Given the description of an element on the screen output the (x, y) to click on. 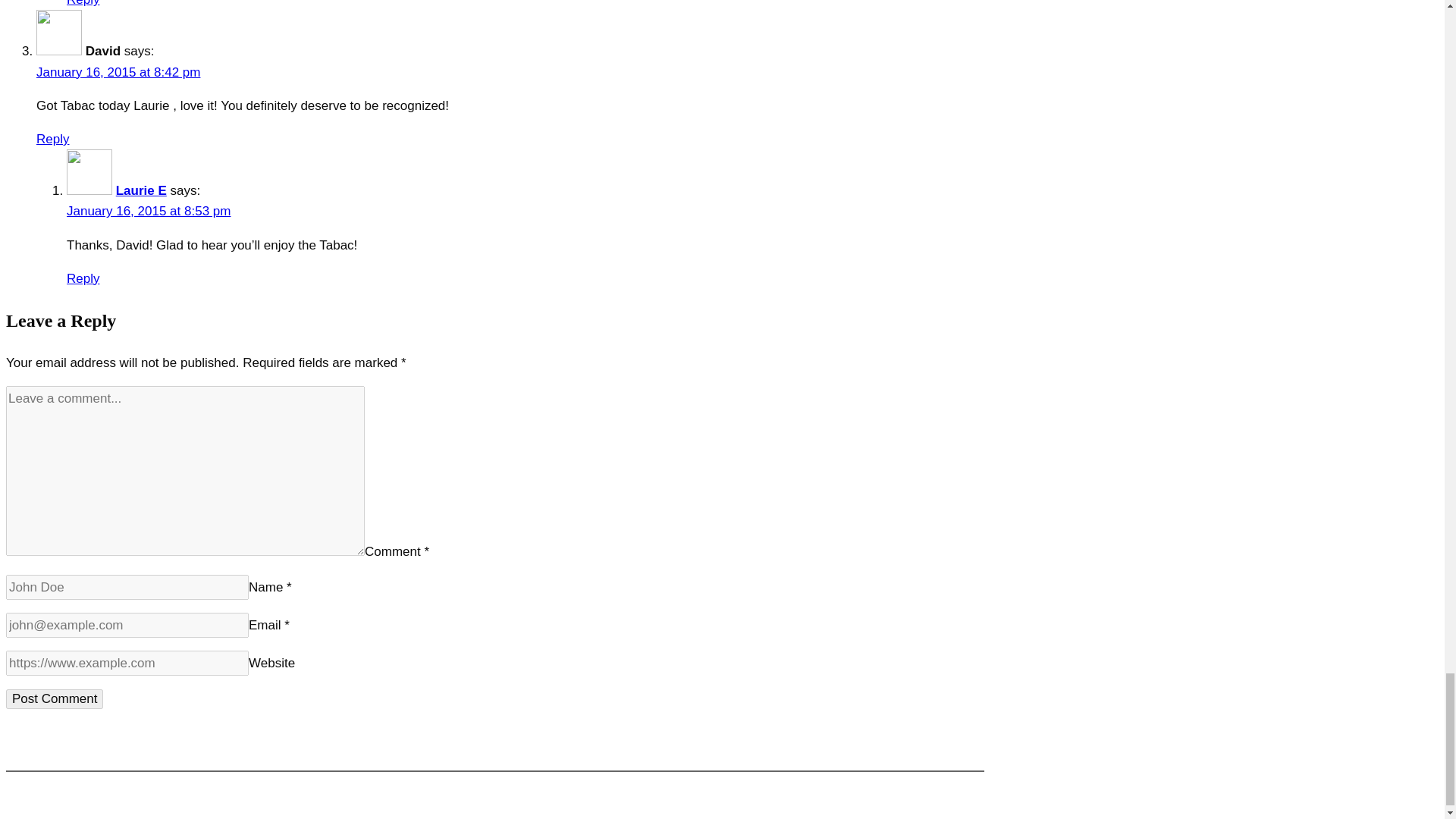
Post Comment (54, 699)
